Given the description of an element on the screen output the (x, y) to click on. 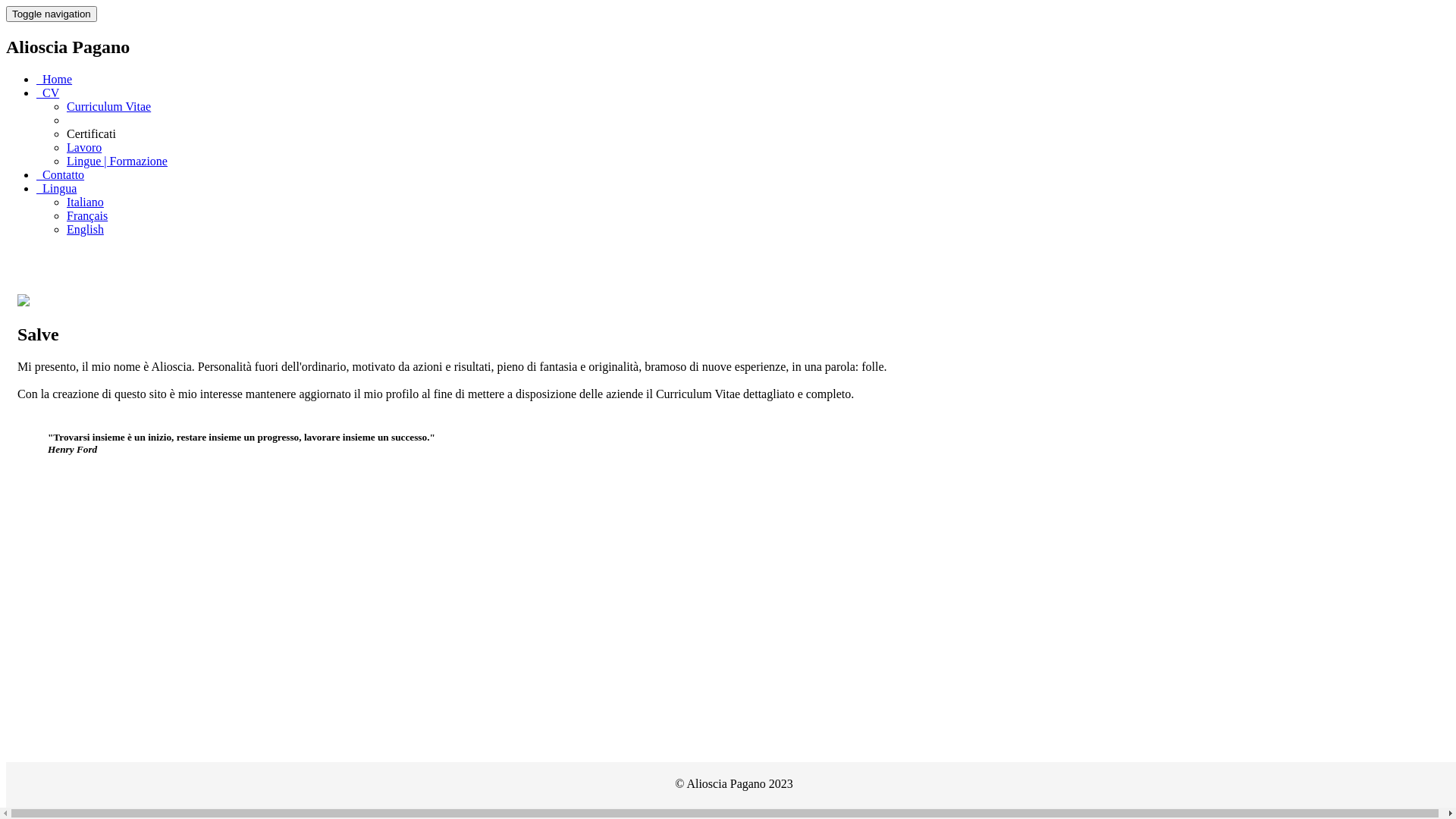
  Home Element type: text (54, 78)
Toggle navigation Element type: text (51, 13)
  Lingua Element type: text (56, 188)
Curriculum Vitae Element type: text (108, 106)
Italiano Element type: text (84, 201)
English Element type: text (84, 228)
  CV Element type: text (47, 92)
Lingue | Formazione Element type: text (116, 160)
Lavoro Element type: text (83, 147)
  Contatto Element type: text (60, 174)
